Given the description of an element on the screen output the (x, y) to click on. 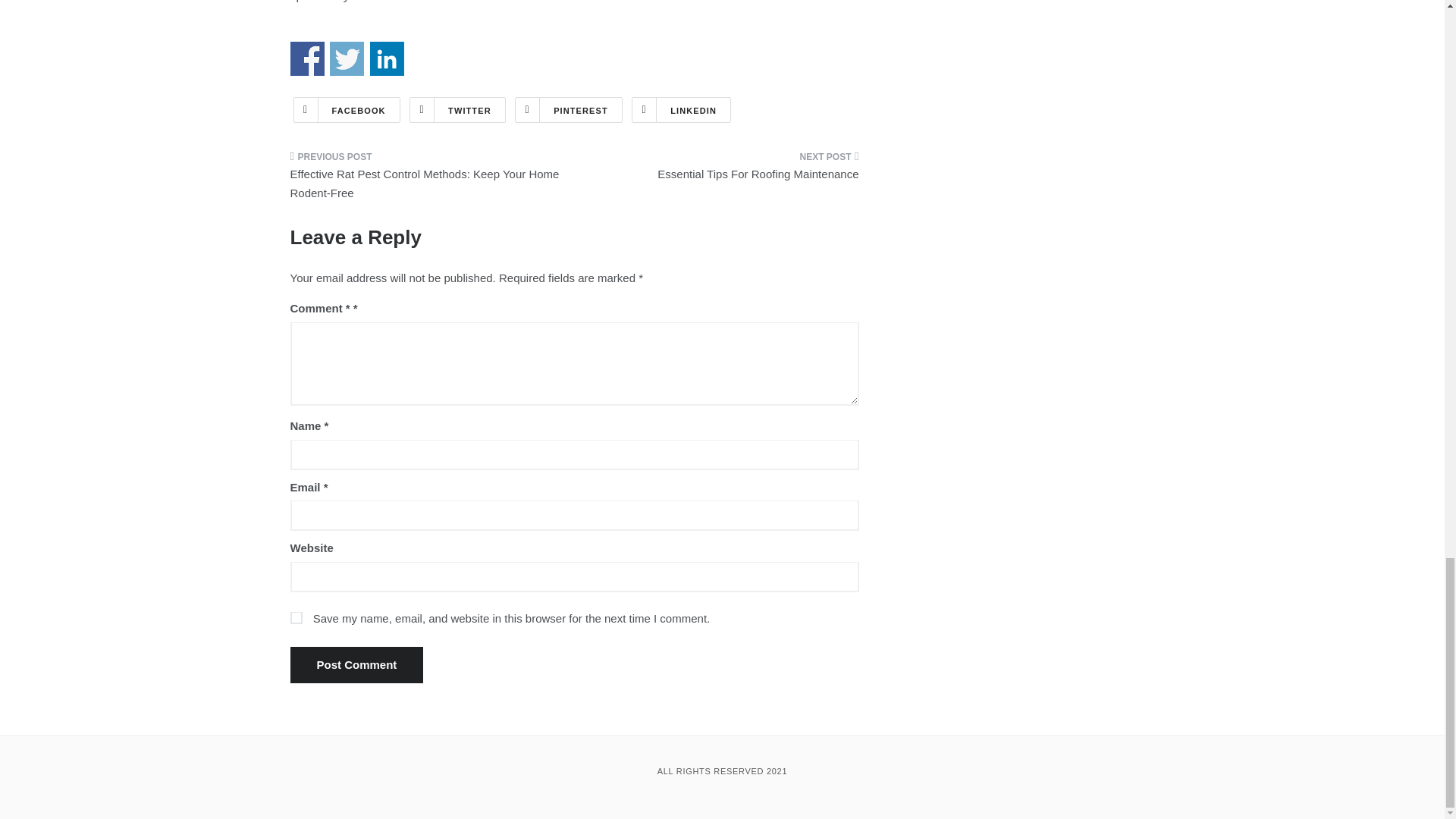
Post Comment (356, 665)
Share on Twitter (347, 58)
Share on Facebook (306, 58)
Share on Linkedin (386, 58)
FACEBOOK (345, 109)
yes (295, 617)
